Given the description of an element on the screen output the (x, y) to click on. 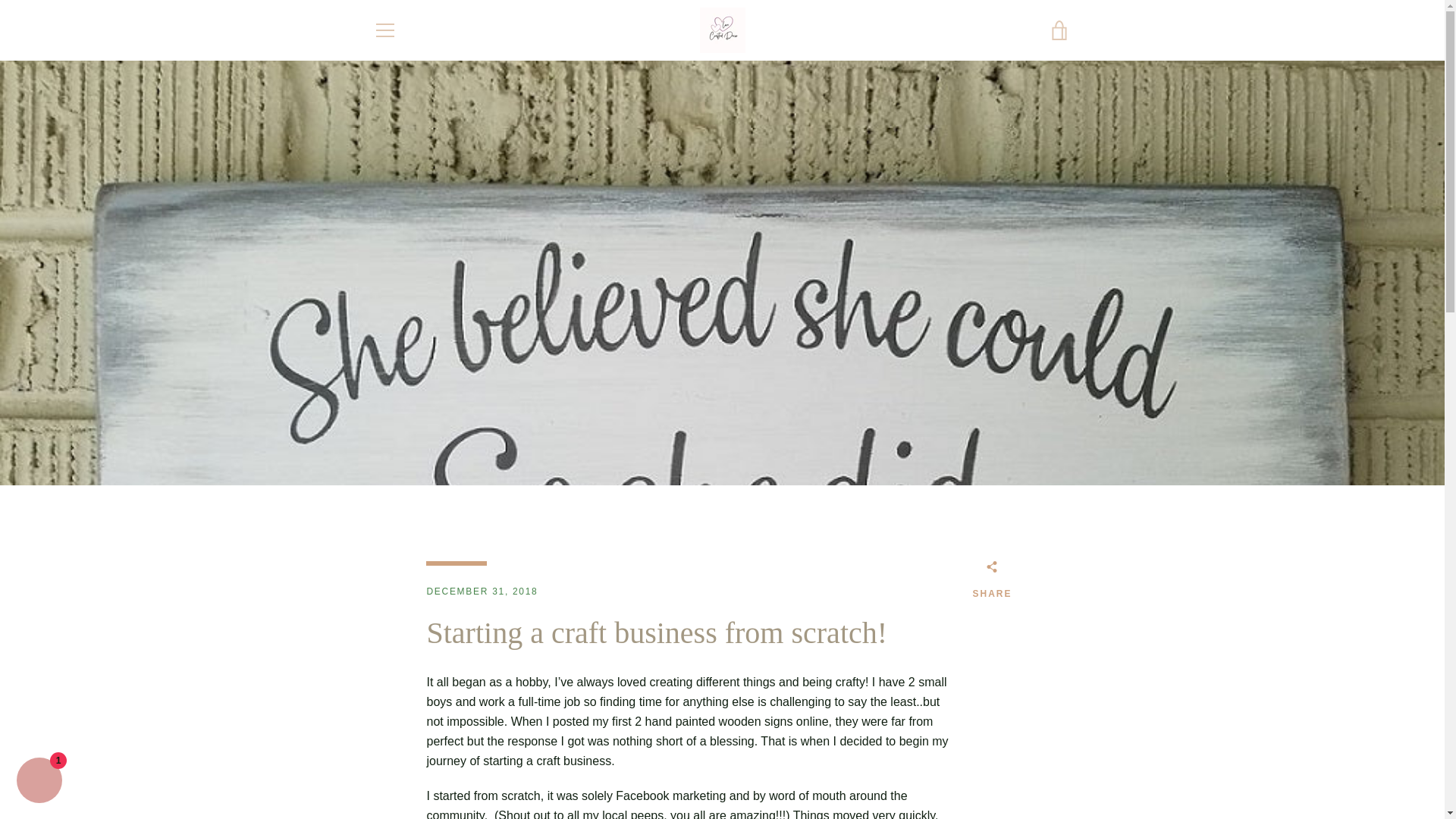
MENU (384, 30)
Shopify online store chat (38, 781)
